Given the description of an element on the screen output the (x, y) to click on. 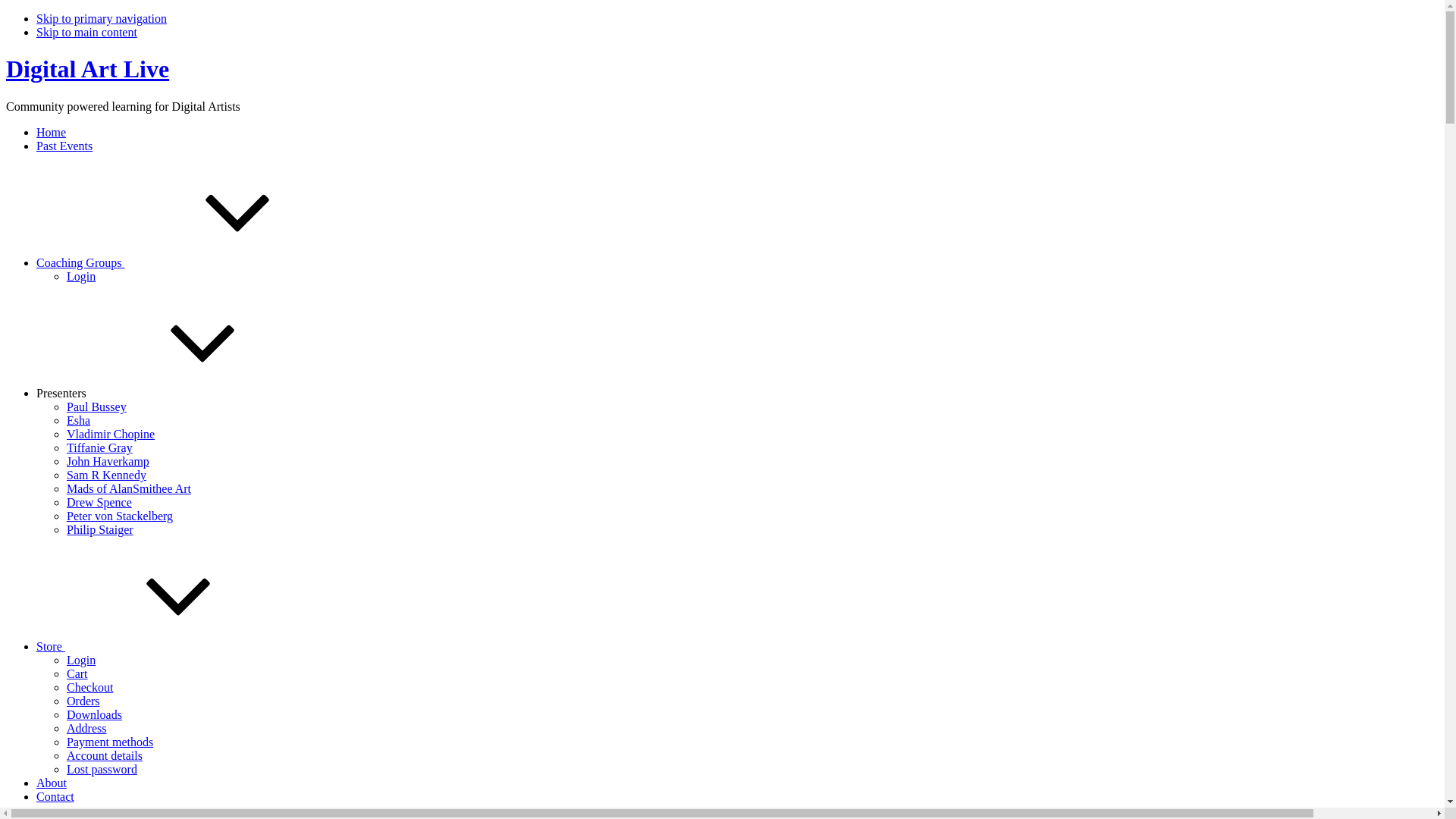
Checkout Element type: text (89, 686)
Digital Art Live Element type: text (87, 68)
About Element type: text (51, 782)
Account details Element type: text (104, 755)
Home Element type: text (50, 131)
Contact Element type: text (55, 796)
Orders Element type: text (83, 700)
Login Element type: text (80, 275)
Downloads Element type: text (94, 714)
Mads of AlanSmithee Art Element type: text (128, 488)
Philip Staiger Element type: text (99, 529)
John Haverkamp Element type: text (107, 461)
Login Element type: text (80, 659)
Paul Bussey Element type: text (96, 406)
Payment methods Element type: text (109, 741)
Peter von Stackelberg Element type: text (119, 515)
Past Events Element type: text (64, 145)
Skip to primary navigation Element type: text (101, 18)
Vladimir Chopine Element type: text (110, 433)
Cart Element type: text (76, 673)
Skip to main content Element type: text (86, 31)
Store Element type: text (164, 646)
Lost password Element type: text (101, 768)
Tiffanie Gray Element type: text (99, 447)
Drew Spence Element type: text (98, 501)
Address Element type: text (86, 727)
Esha Element type: text (78, 420)
Coaching Groups Element type: text (193, 262)
Presenters Element type: text (176, 392)
Sam R Kennedy Element type: text (106, 474)
